Given the description of an element on the screen output the (x, y) to click on. 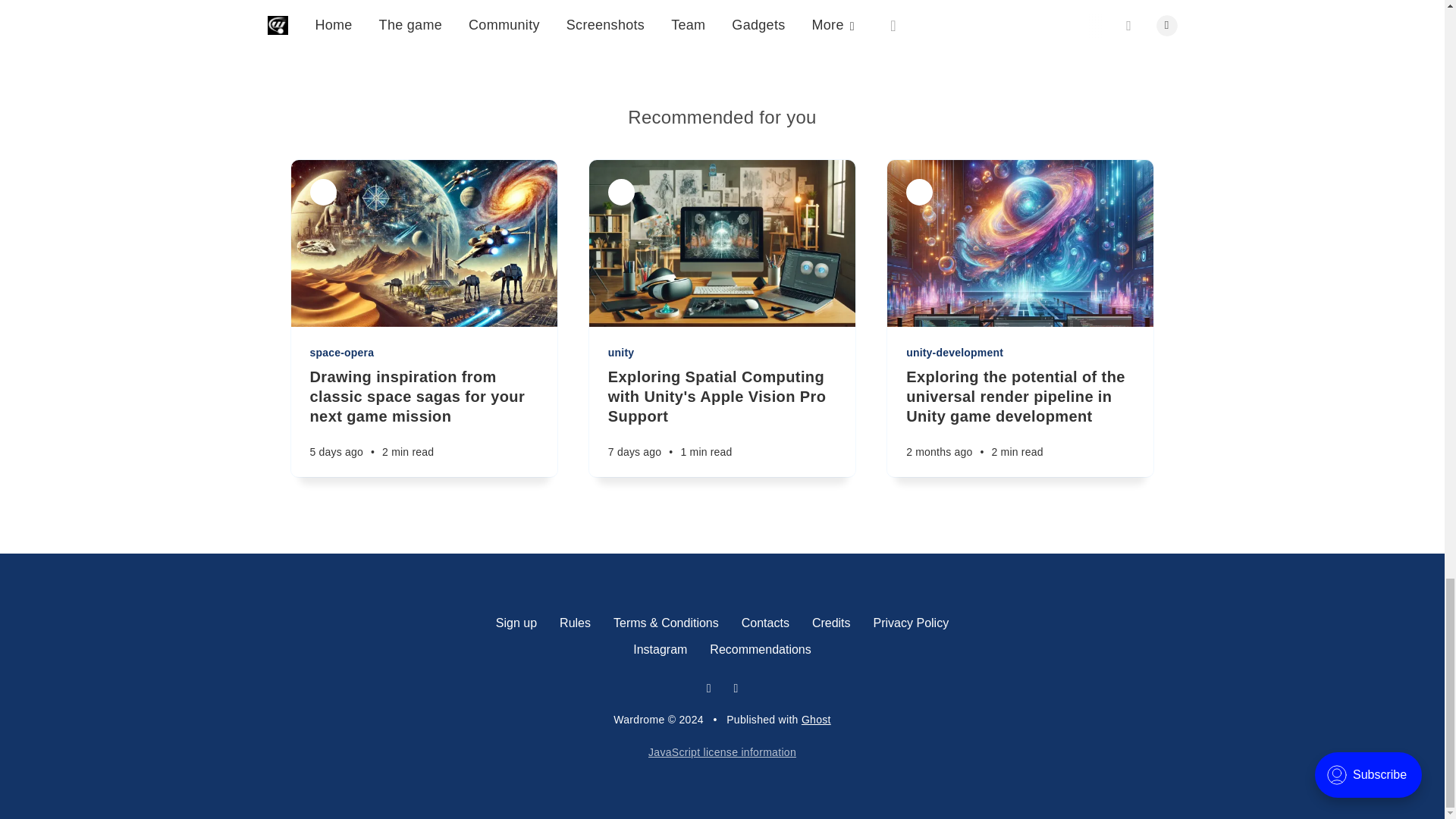
comments-frame (721, 29)
